Given the description of an element on the screen output the (x, y) to click on. 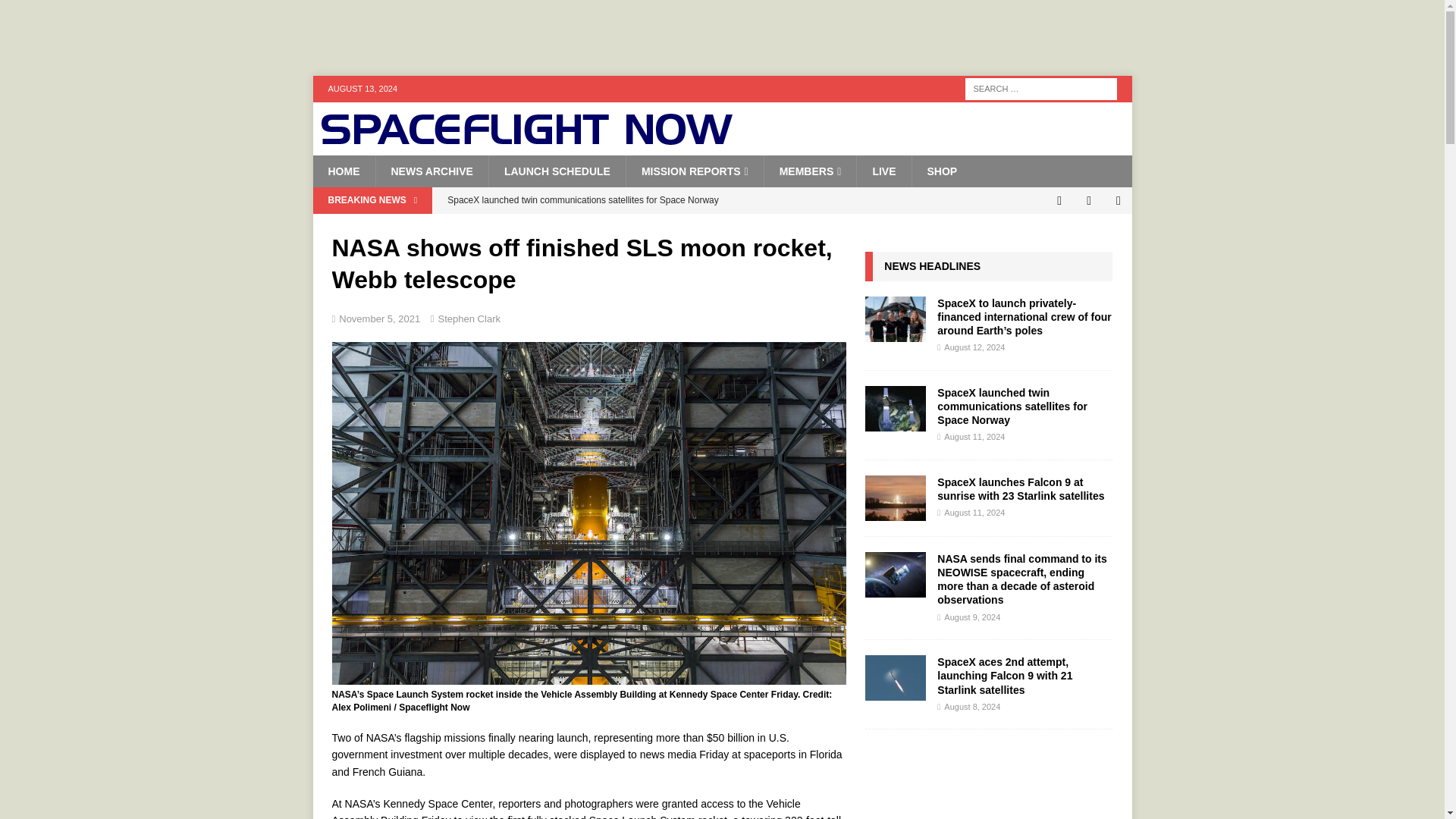
Spaceflight Now (526, 139)
MISSION REPORTS (694, 171)
HOME (343, 171)
NEWS ARCHIVE (430, 171)
MEMBERS (809, 171)
